Given the description of an element on the screen output the (x, y) to click on. 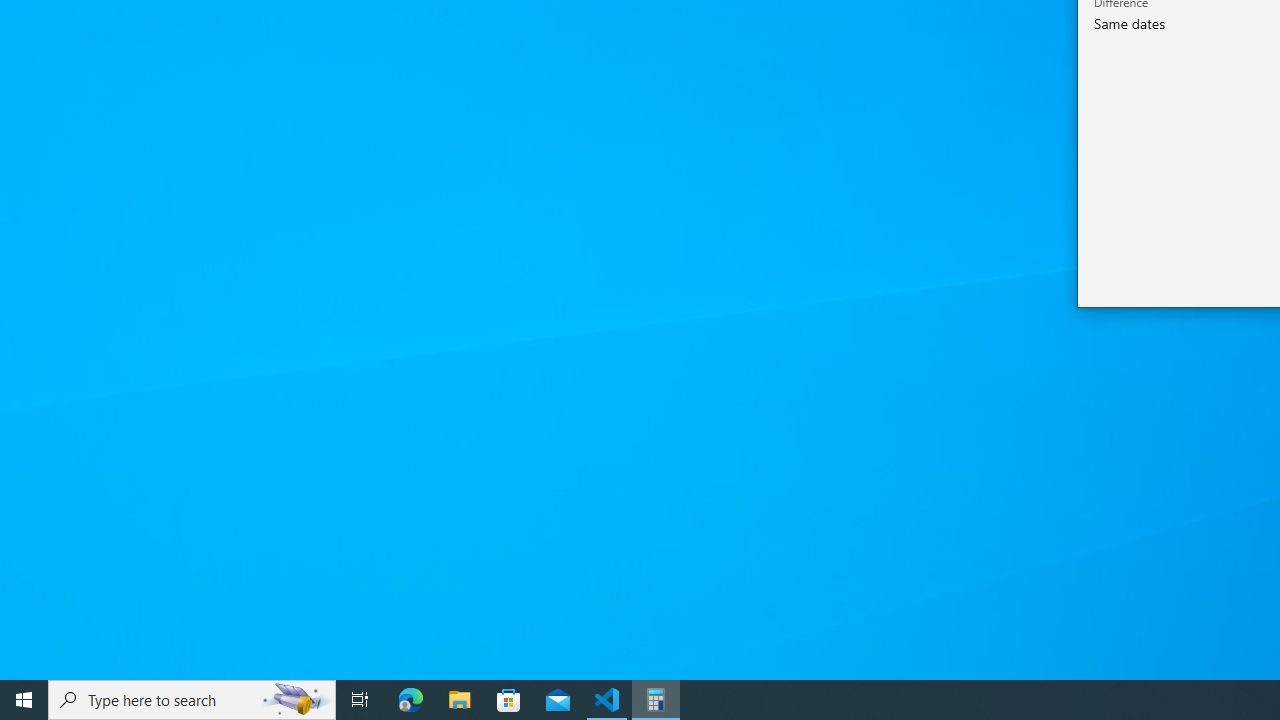
Start (24, 699)
Microsoft Store (509, 699)
Task View (359, 699)
Type here to search (191, 699)
Search highlights icon opens search home window (295, 699)
Microsoft Edge (411, 699)
File Explorer (460, 699)
Calculator - 1 running window (656, 699)
Visual Studio Code - 1 running window (607, 699)
